Given the description of an element on the screen output the (x, y) to click on. 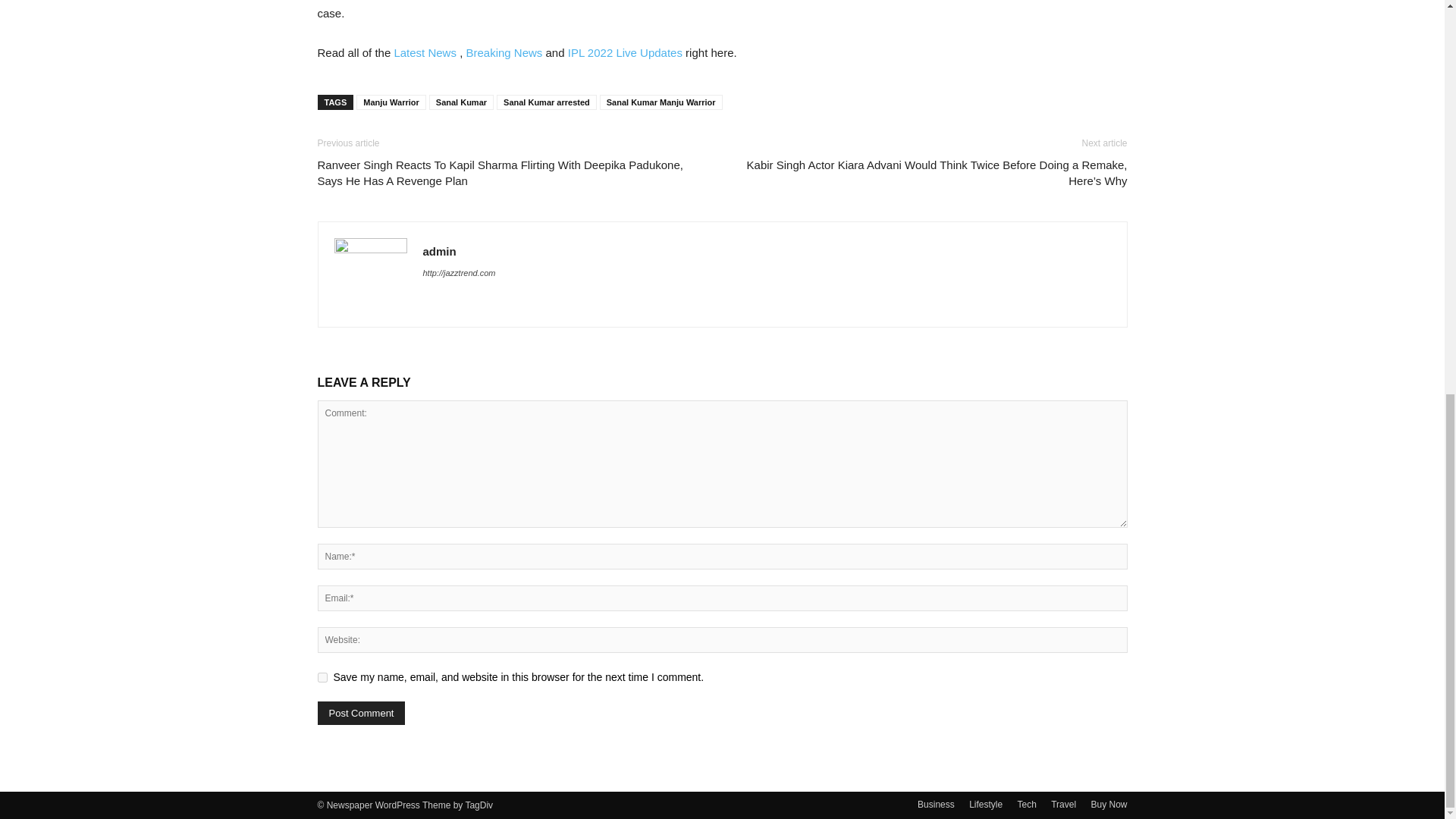
IPL 2022 Live Updates (624, 51)
Breaking News (503, 51)
yes (321, 677)
Sanal Kumar (461, 102)
Latest News (426, 51)
Post Comment (360, 712)
Manju Warrior (391, 102)
